Given the description of an element on the screen output the (x, y) to click on. 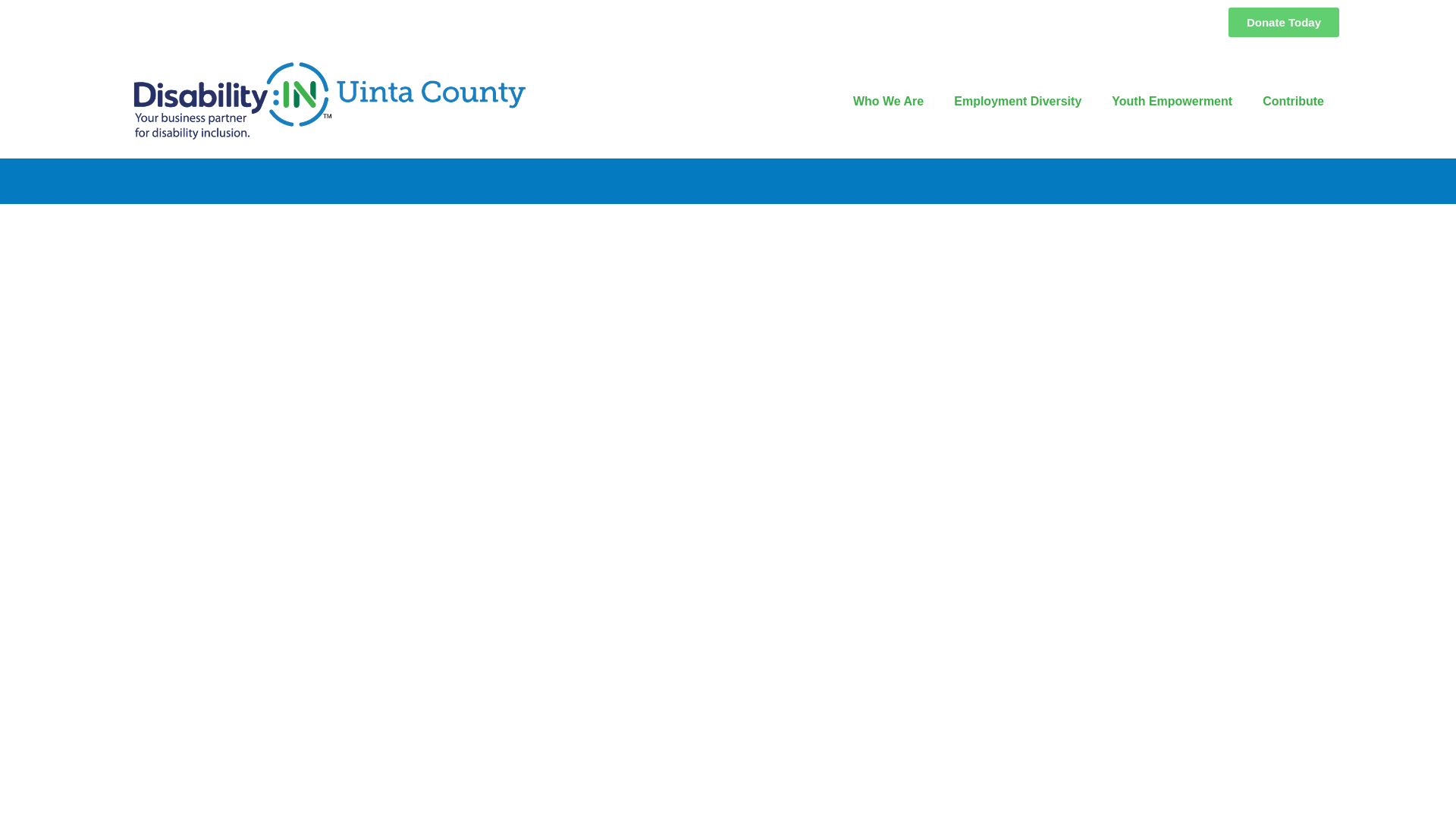
Youth Empowerment (1171, 101)
Donate Today (1283, 21)
Contribute (1293, 101)
Who We Are (888, 101)
Employment Diversity (1017, 101)
